Given the description of an element on the screen output the (x, y) to click on. 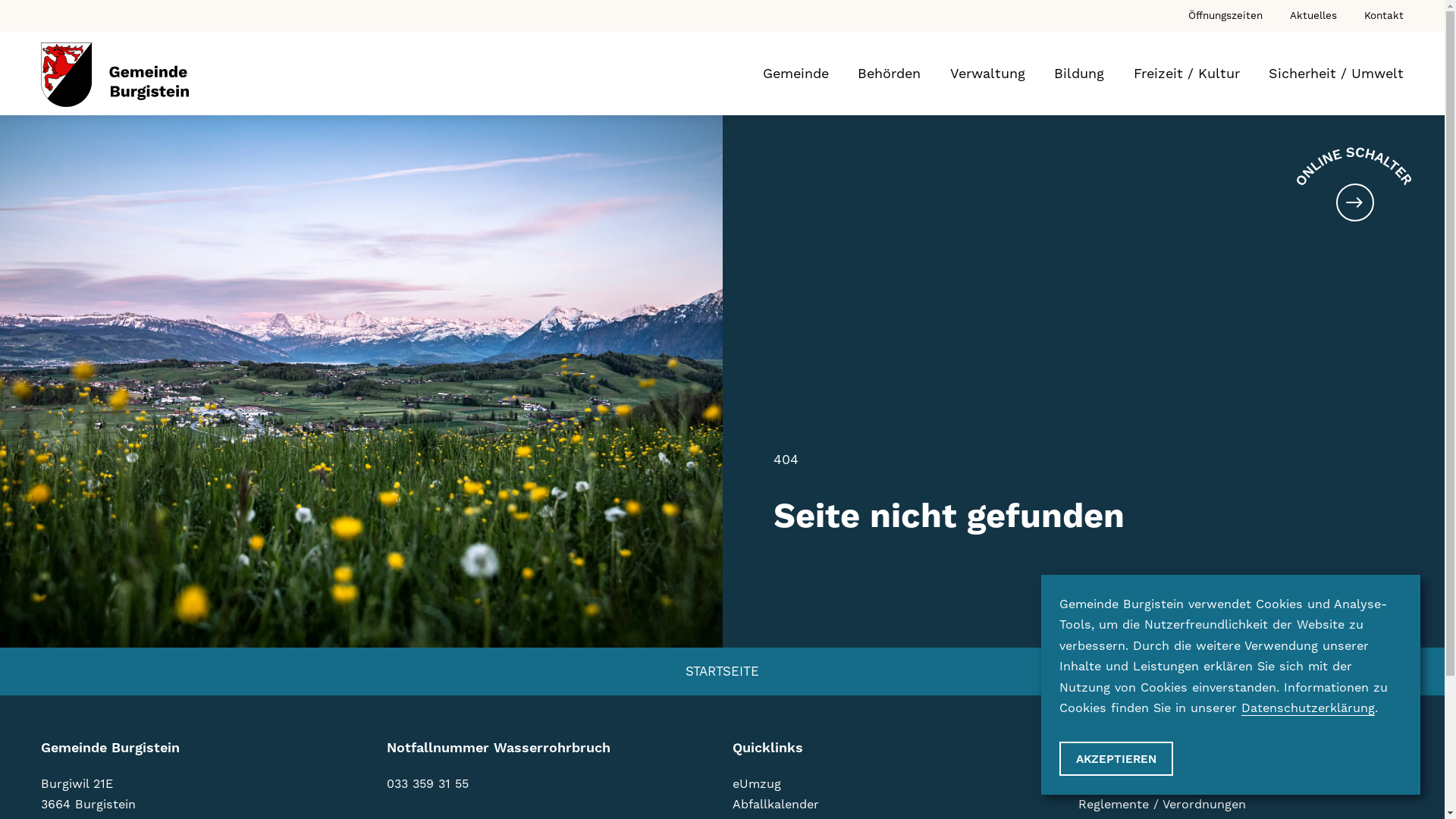
eUmzug Element type: text (756, 783)
Abfallkalender Element type: text (775, 804)
Aktuelles Element type: text (1301, 15)
Reglemente / Verordnungen Element type: text (1161, 804)
033 359 31 55 Element type: text (427, 783)
Sicherheit / Umwelt Element type: text (1335, 73)
Logo - Gemeinde Burgistein Element type: hover (114, 74)
Kontakt Element type: text (1372, 15)
Mitteilungsblatt Element type: text (1125, 783)
Gemeinde Element type: text (795, 73)
Freizeit / Kultur Element type: text (1186, 73)
AKZEPTIEREN Element type: text (1116, 758)
Verwaltung Element type: text (987, 73)
STARTSEITE Element type: text (722, 671)
Bildung Element type: text (1079, 73)
